Given the description of an element on the screen output the (x, y) to click on. 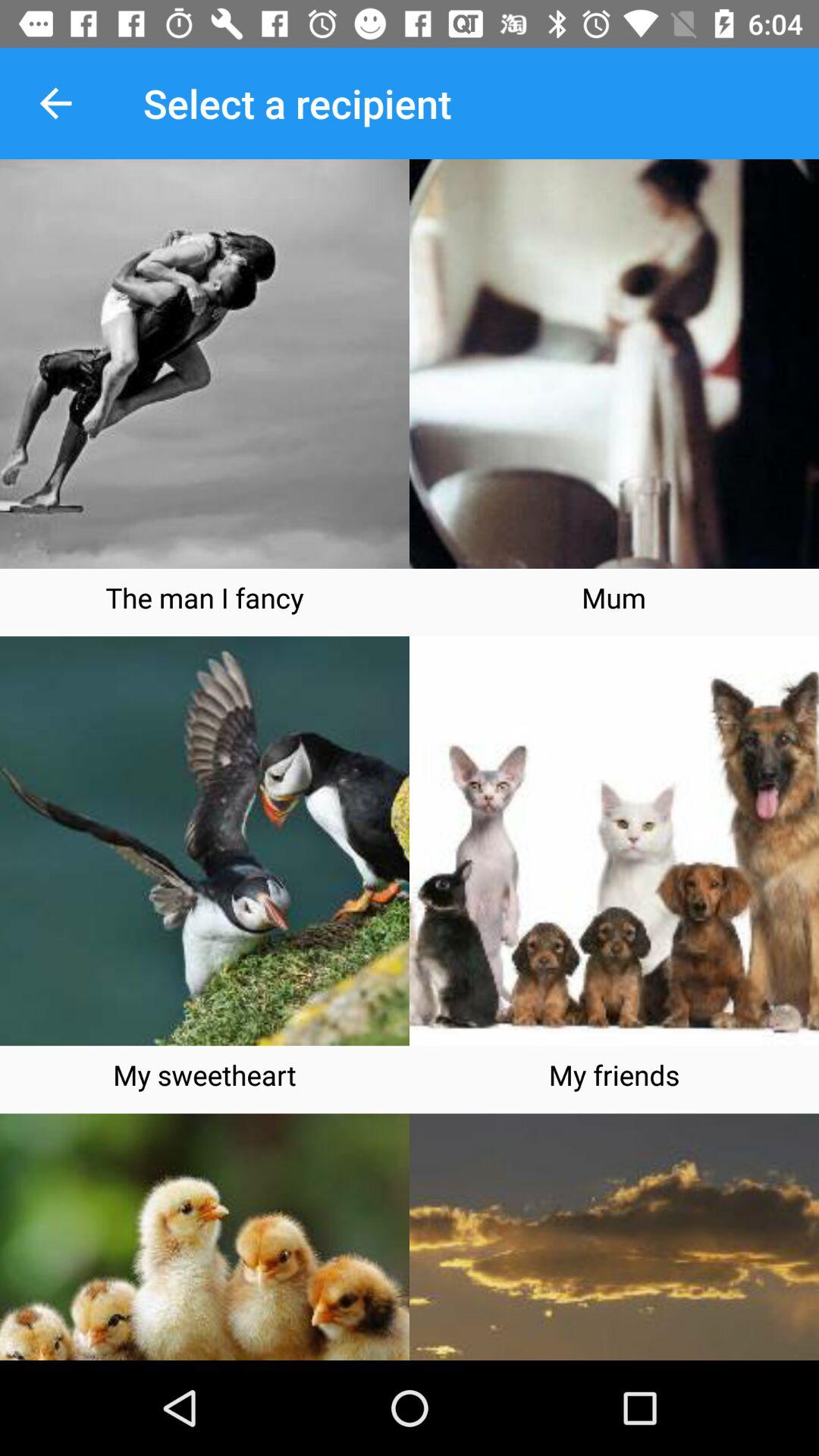
click the item to the left of select a recipient item (55, 103)
